Given the description of an element on the screen output the (x, y) to click on. 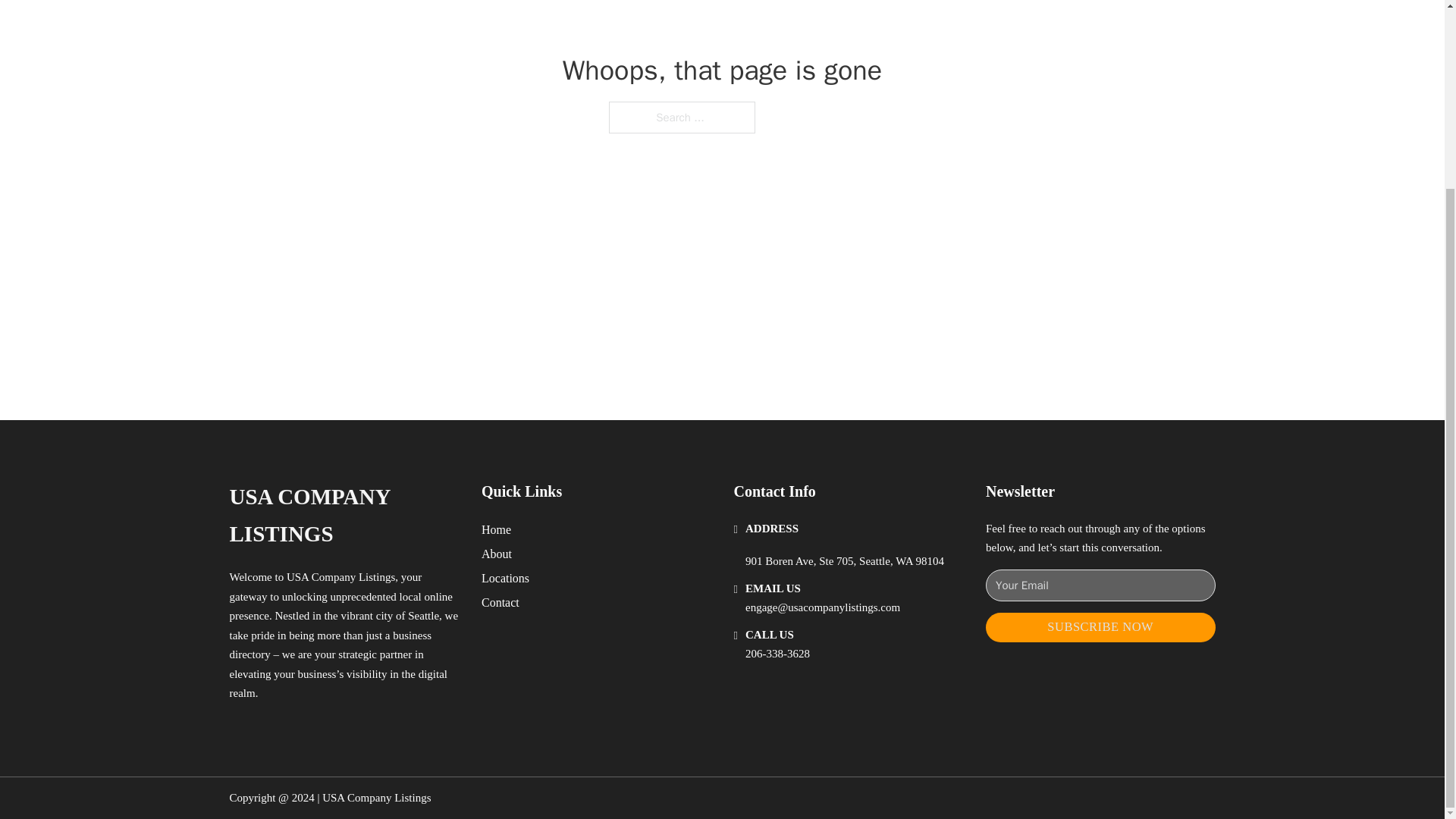
About (496, 553)
Contact (500, 602)
Locations (505, 578)
SUBSCRIBE NOW (1100, 627)
USA COMPANY LISTINGS (343, 515)
206-338-3628 (777, 653)
Home (496, 529)
